Given the description of an element on the screen output the (x, y) to click on. 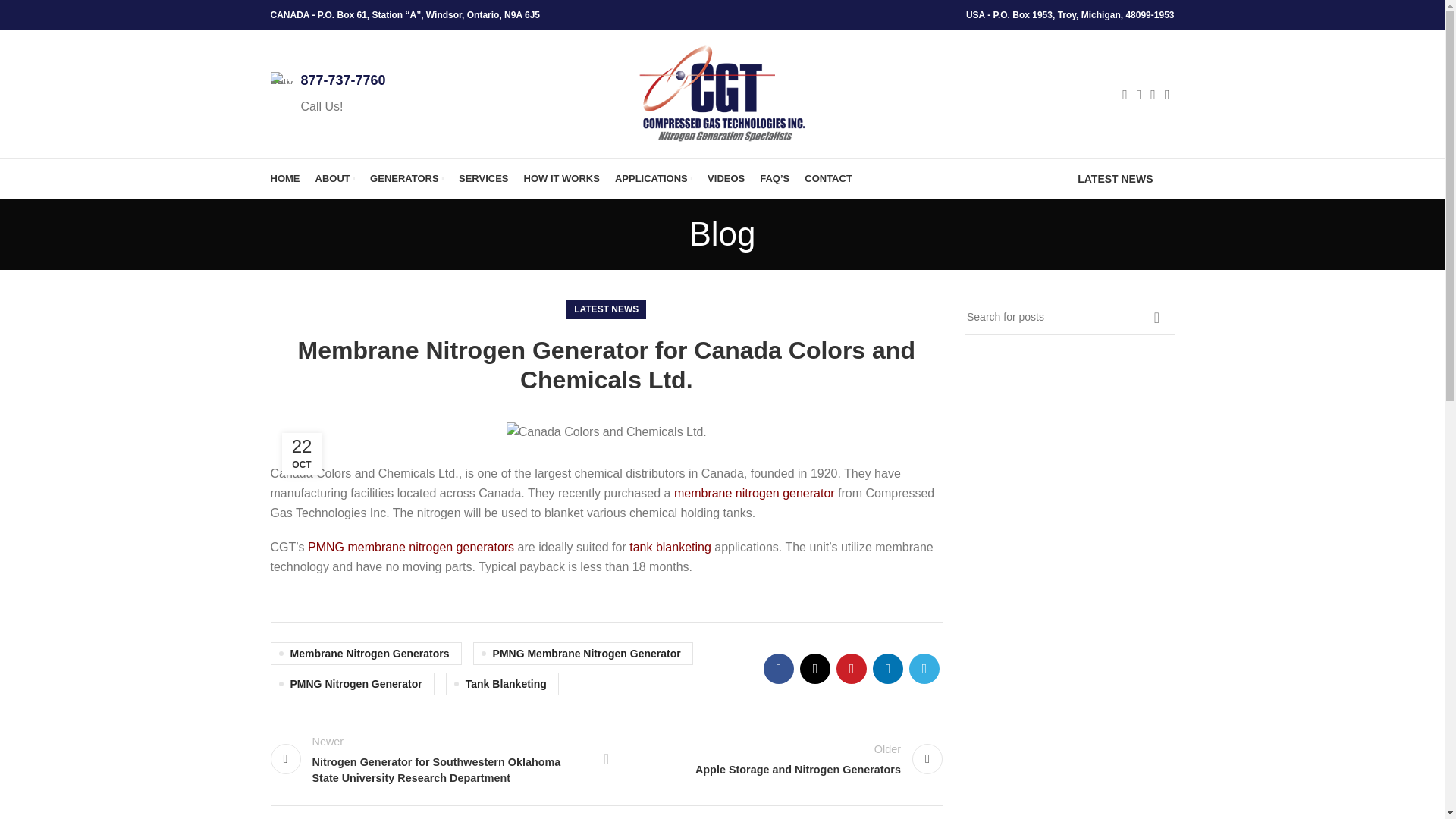
ABOUT (335, 178)
SERVICES (483, 178)
go front page (284, 178)
HOME (284, 178)
GENERATORS (406, 178)
call now (280, 78)
